Given the description of an element on the screen output the (x, y) to click on. 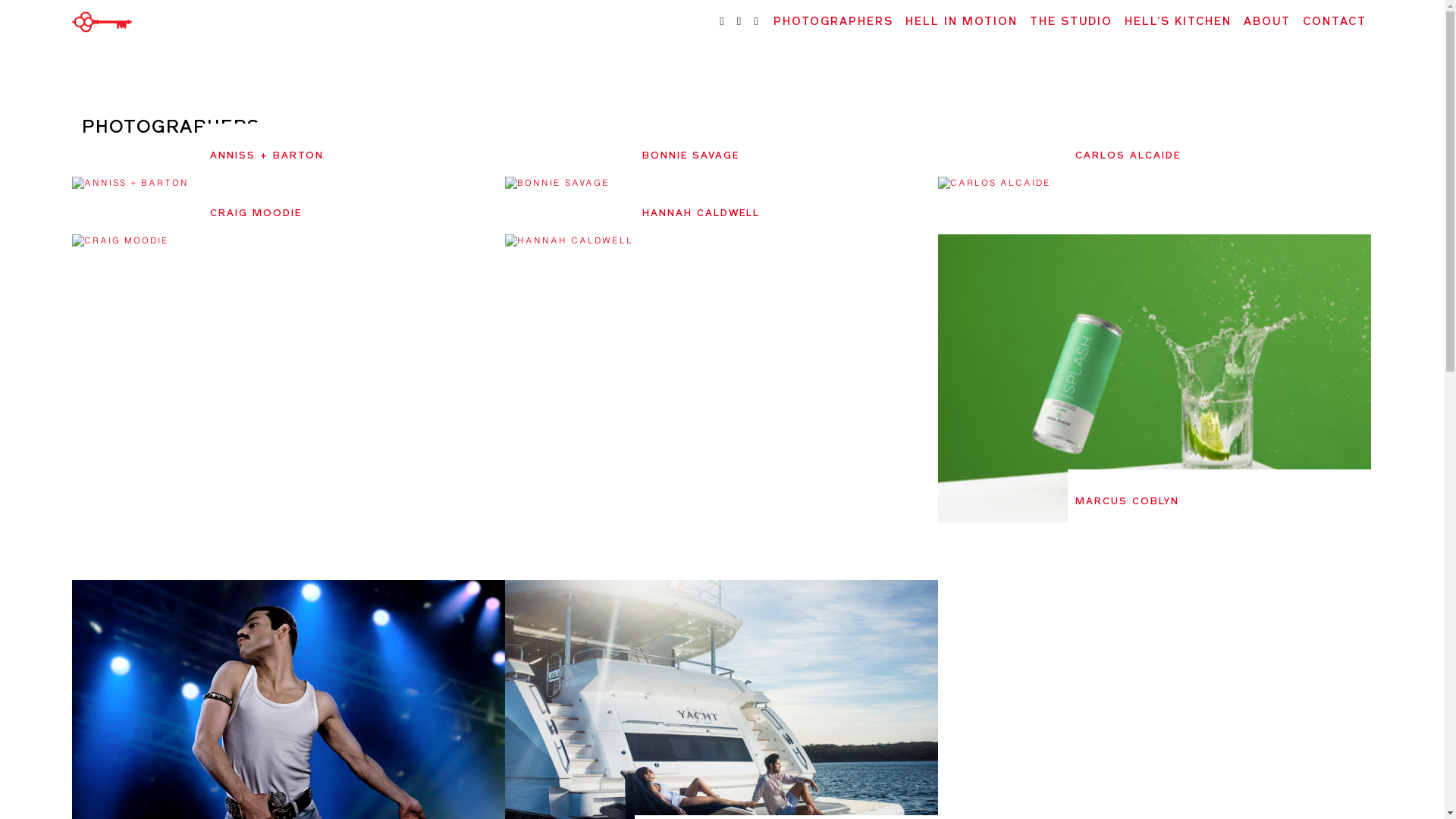
CARLOS ALCAIDE Element type: text (1127, 155)
HELL STUDIOS Element type: text (112, 53)
THE STUDIO Element type: text (1070, 22)
HELL IN MOTION Element type: text (961, 22)
ANNISS + BARTON Element type: text (266, 155)
ABOUT Element type: text (1266, 22)
CONTACT Element type: text (1334, 22)
CRAIG MOODIE Element type: text (255, 213)
HANNAH CALDWELL Element type: text (700, 213)
BONNIE SAVAGE Element type: text (690, 155)
MARCUS COBLYN Element type: text (1127, 501)
PHOTOGRAPHERS Element type: text (833, 22)
